Given the description of an element on the screen output the (x, y) to click on. 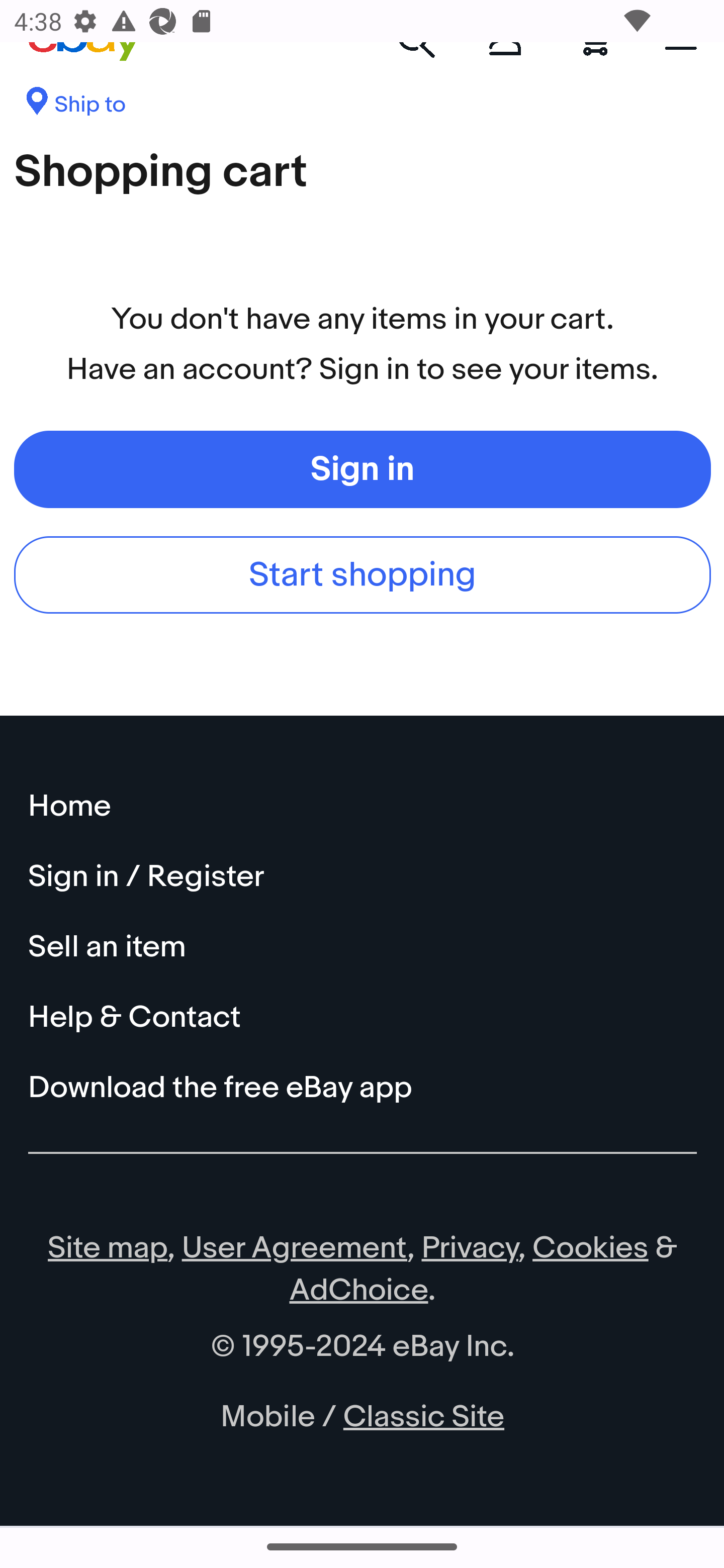
Ship to  (75, 107)
Sign in (362, 468)
Start shopping (362, 573)
Home (363, 805)
Sign in / Register (363, 876)
Sell an item (363, 947)
Help & Contact (363, 1017)
Download the free eBay app (363, 1088)
Site map (107, 1248)
User Agreement (294, 1248)
Privacy (469, 1248)
Cookies (590, 1248)
AdChoice (358, 1290)
